Given the description of an element on the screen output the (x, y) to click on. 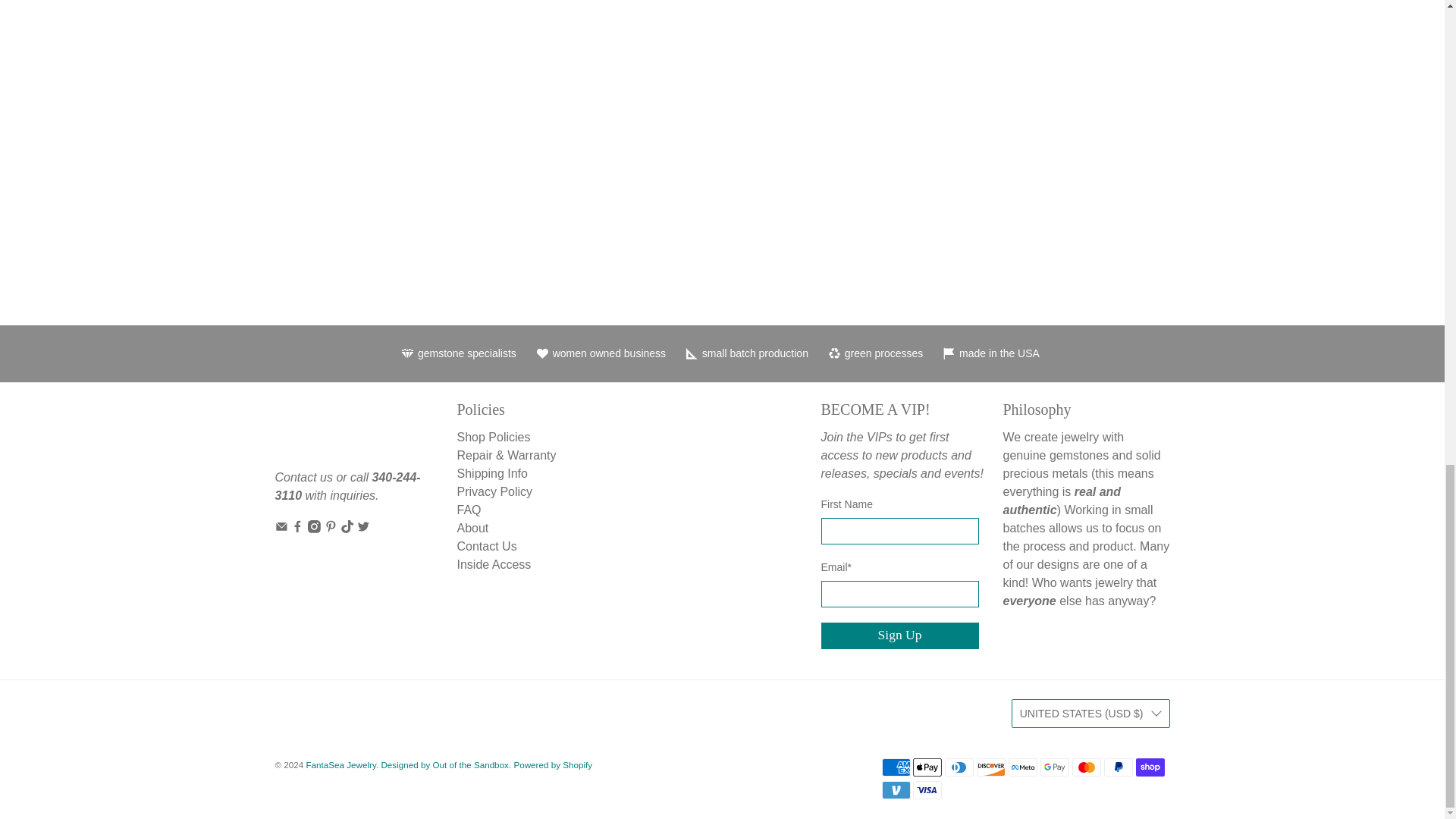
FantaSea Jewelry on Instagram (313, 528)
FantaSea Jewelry on Facebook (297, 528)
FantaSea Jewelry on Pinterest (330, 528)
FantaSea Jewelry on TikTok (346, 528)
SV (1273, 39)
Contact Us (303, 477)
Flex Shopify Theme by Out of the Sandbox (444, 764)
EE (1273, 66)
FantaSea Jewelry (324, 433)
FantaSea Jewelry on Twitter (362, 528)
EC (1273, 12)
Email FantaSea Jewelry (280, 528)
